Given the description of an element on the screen output the (x, y) to click on. 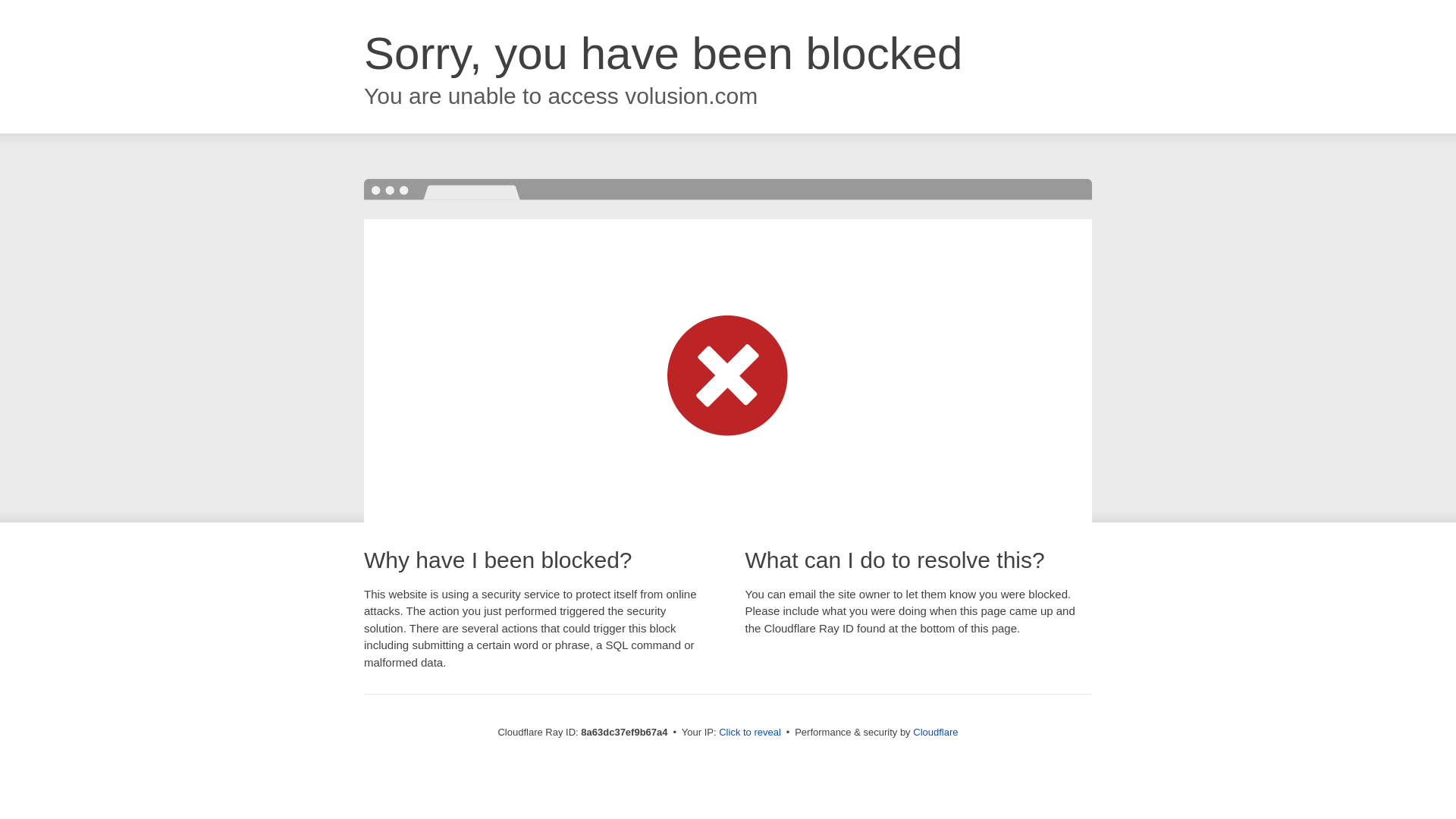
Click to reveal (749, 732)
Cloudflare (935, 731)
